Given the description of an element on the screen output the (x, y) to click on. 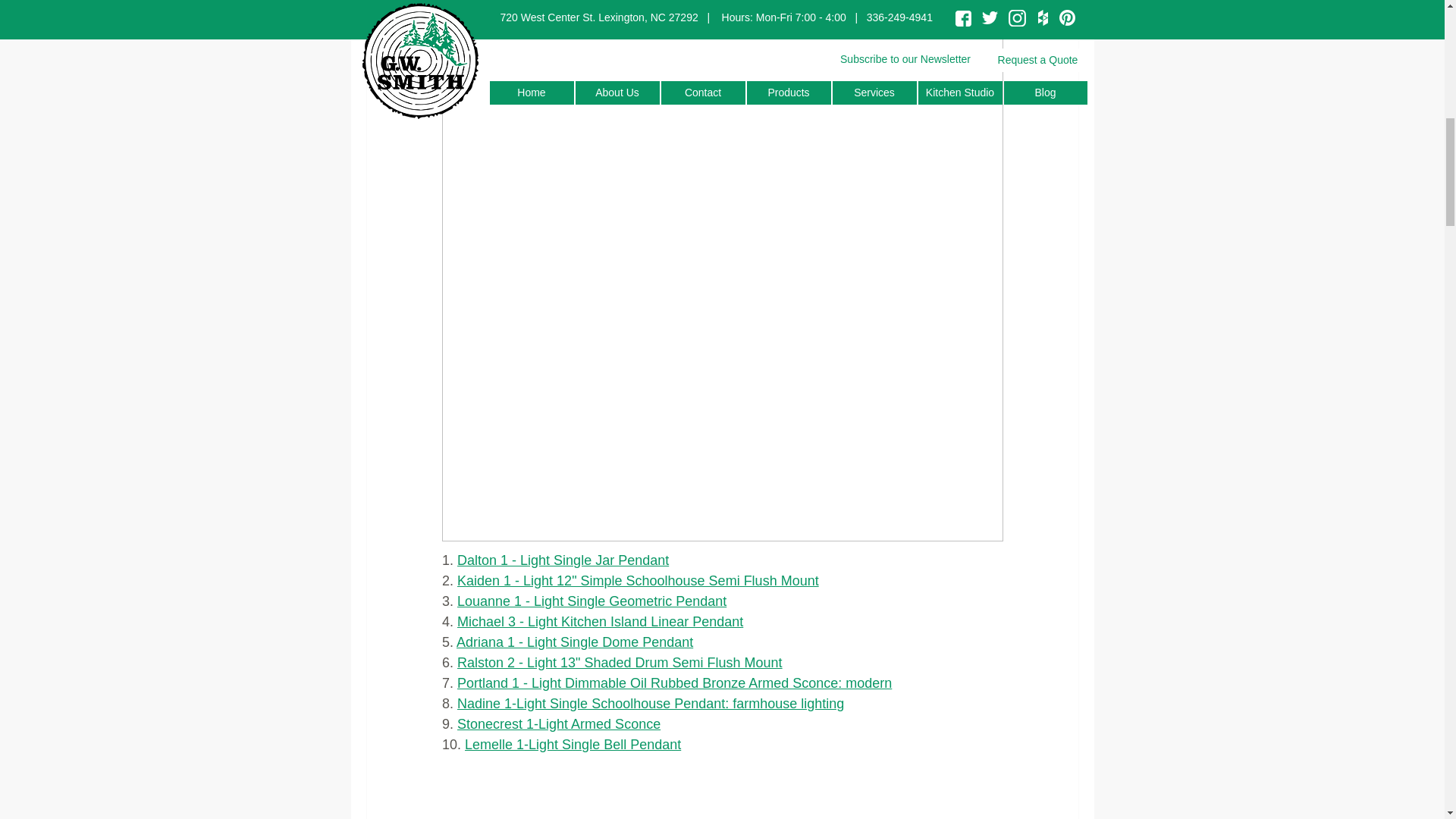
Dalton 1 - Light Single Jar Pendant (562, 560)
Stonecrest 1-Light Armed Sconce (559, 724)
Michael 3 - Light Kitchen Island Linear Pendant (599, 621)
Ralston 2 - Light 13" Shaded Drum Semi Flush Mount (620, 662)
Adriana 1 - Light Single Dome Pendant (575, 642)
Lemelle 1-Light Single Bell Pendant (572, 744)
Louanne 1 - Light Single Geometric Pendant (591, 601)
Kaiden 1 - Light 12" Simple Schoolhouse Semi Flush Mount (637, 580)
